Given the description of an element on the screen output the (x, y) to click on. 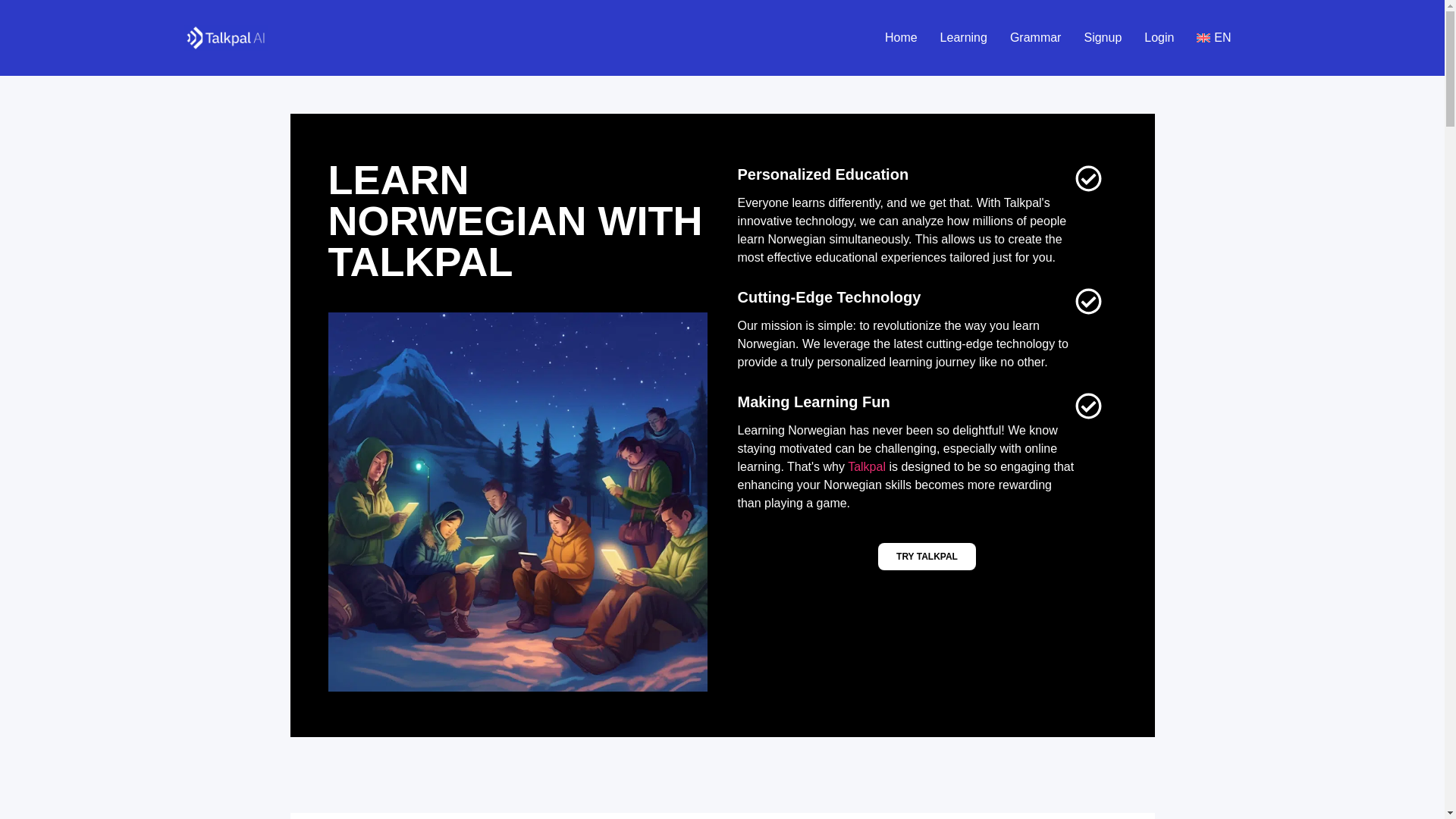
EN (1213, 37)
Home (901, 37)
Grammar (1035, 37)
Login (1158, 37)
EN (1213, 37)
Learning (963, 37)
Signup (1102, 37)
